Given the description of an element on the screen output the (x, y) to click on. 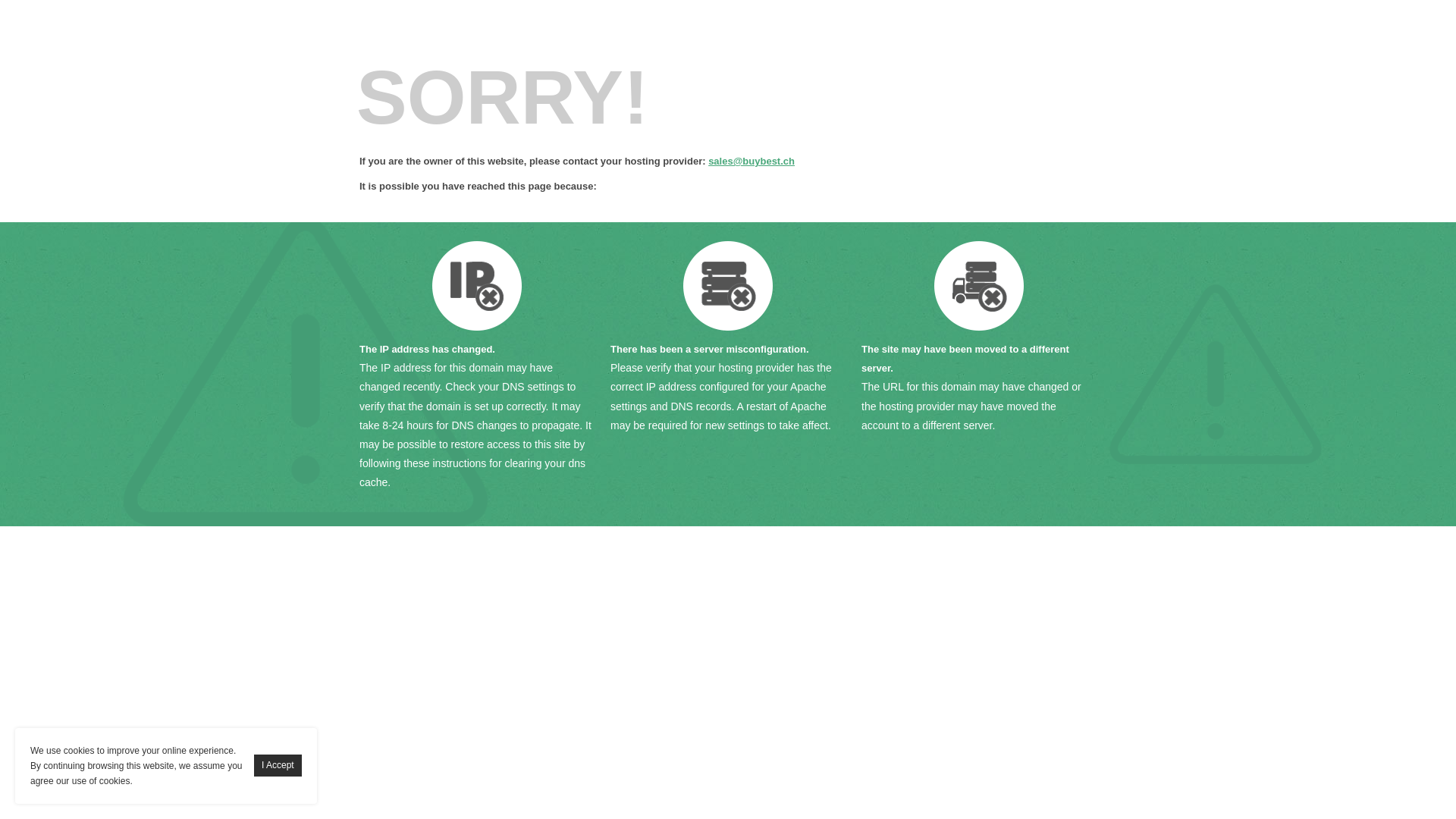
sales@buybest.ch Element type: text (751, 160)
